Given the description of an element on the screen output the (x, y) to click on. 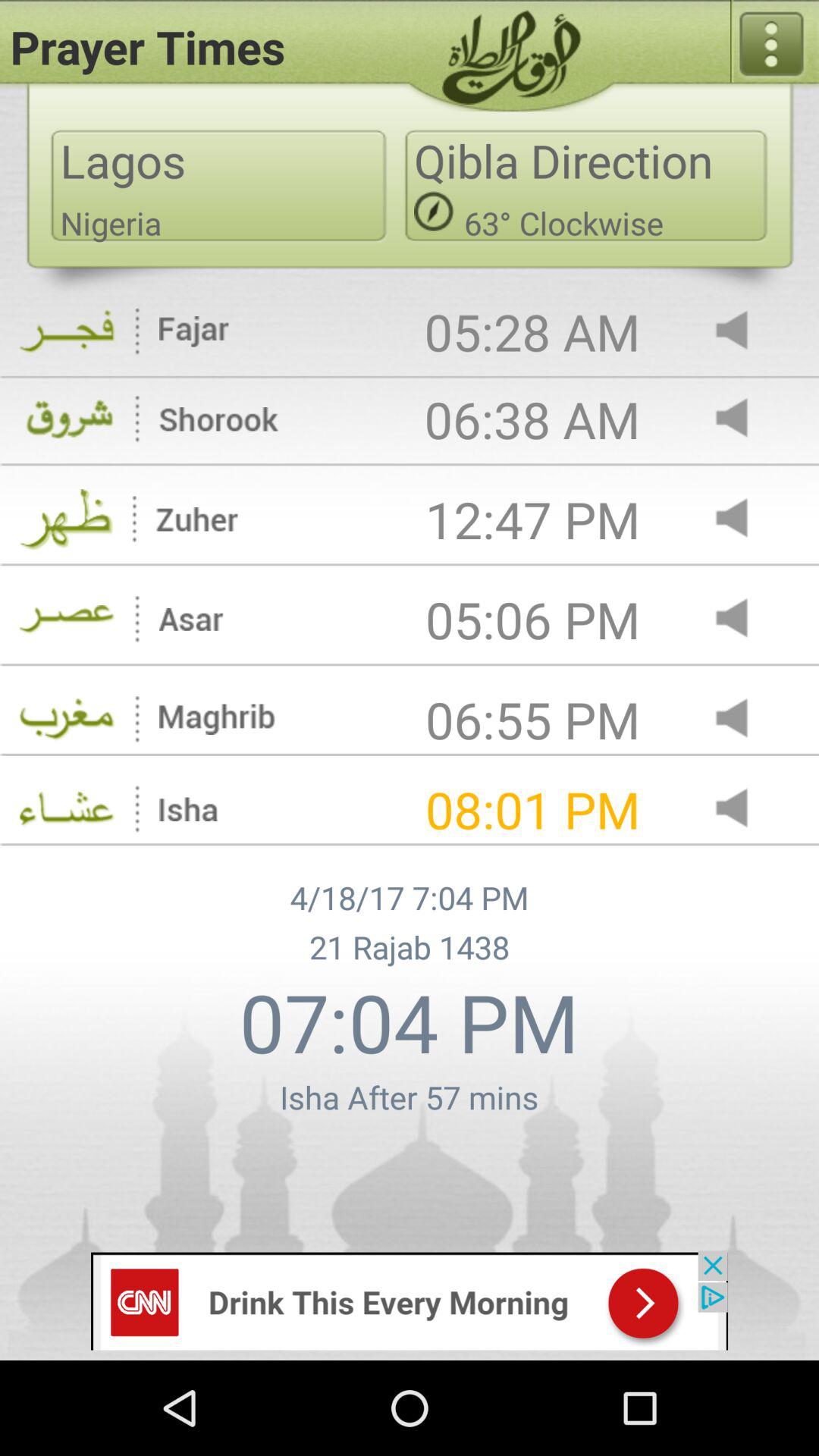
toggle the sound (744, 419)
